Given the description of an element on the screen output the (x, y) to click on. 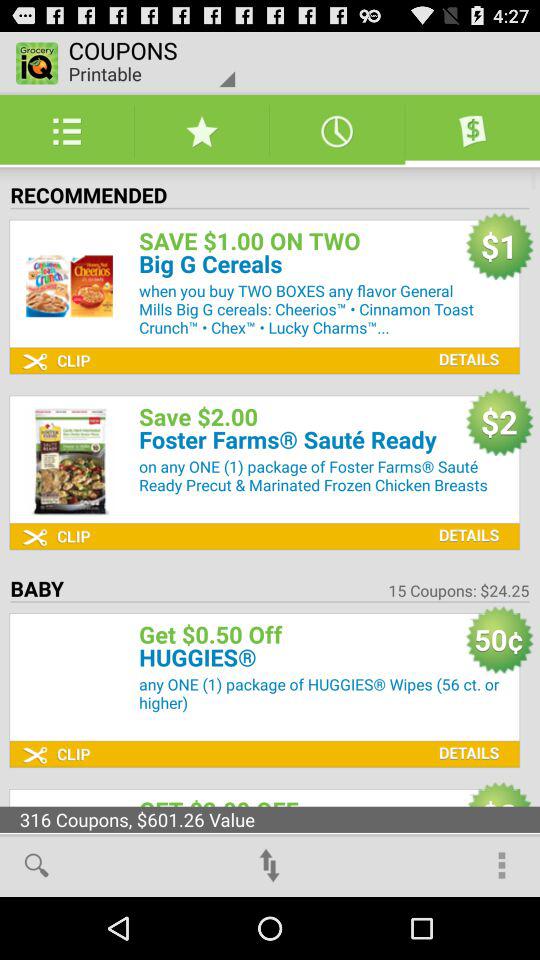
click to see details of coupon (464, 343)
